Given the description of an element on the screen output the (x, y) to click on. 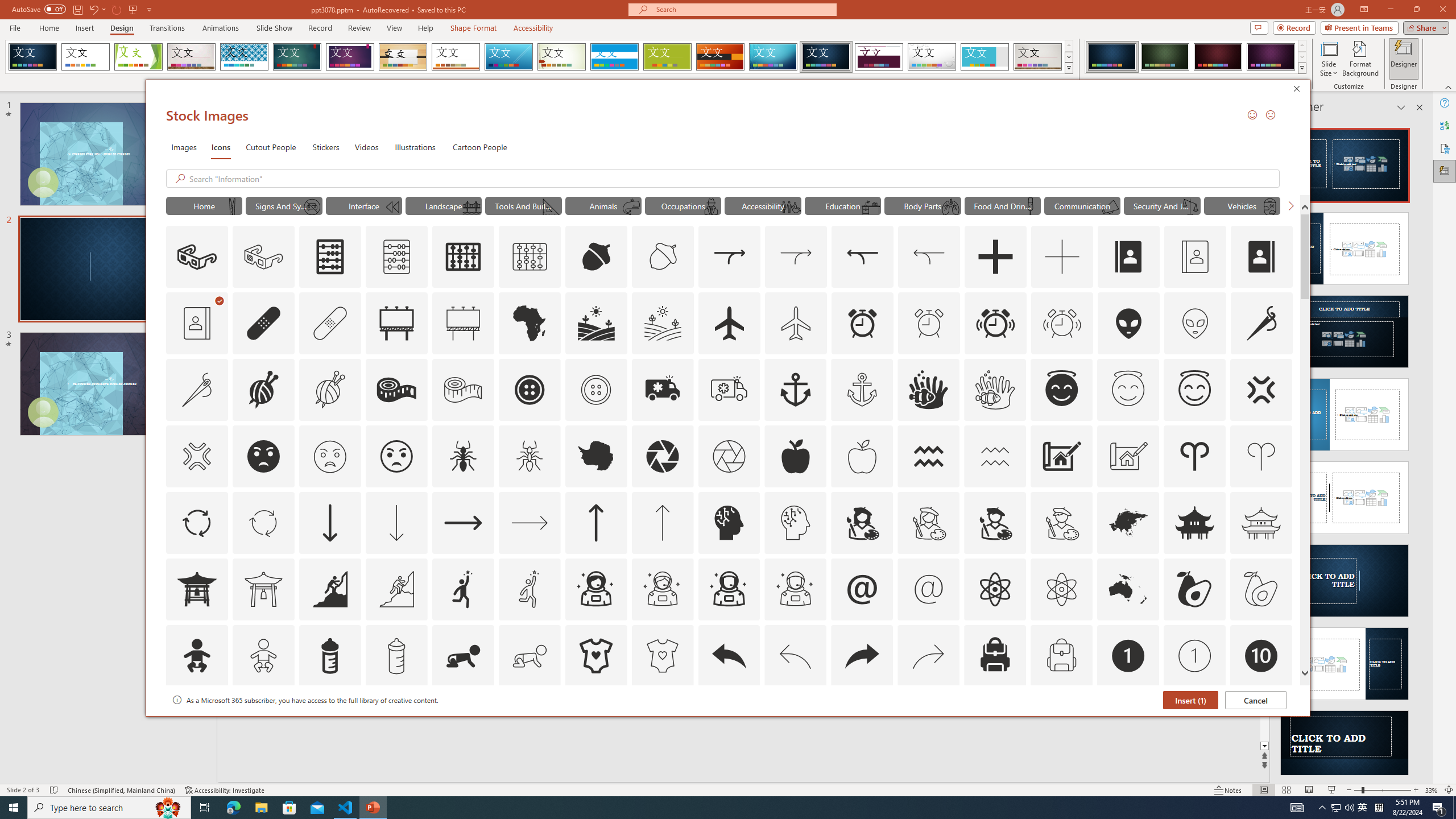
"Body Parts" Icons. (921, 205)
Slide Size (1328, 58)
AutomationID: Icons_Aspiration1 (462, 588)
AutomationID: Icons_Aquarius_M (995, 455)
AutomationID: Icons_ArrowRight_M (529, 522)
Themes (1068, 67)
AutomationID: Icons_AngryFace_Outline (395, 455)
AutomationID: Icons_Badge10 (1260, 655)
